Given the description of an element on the screen output the (x, y) to click on. 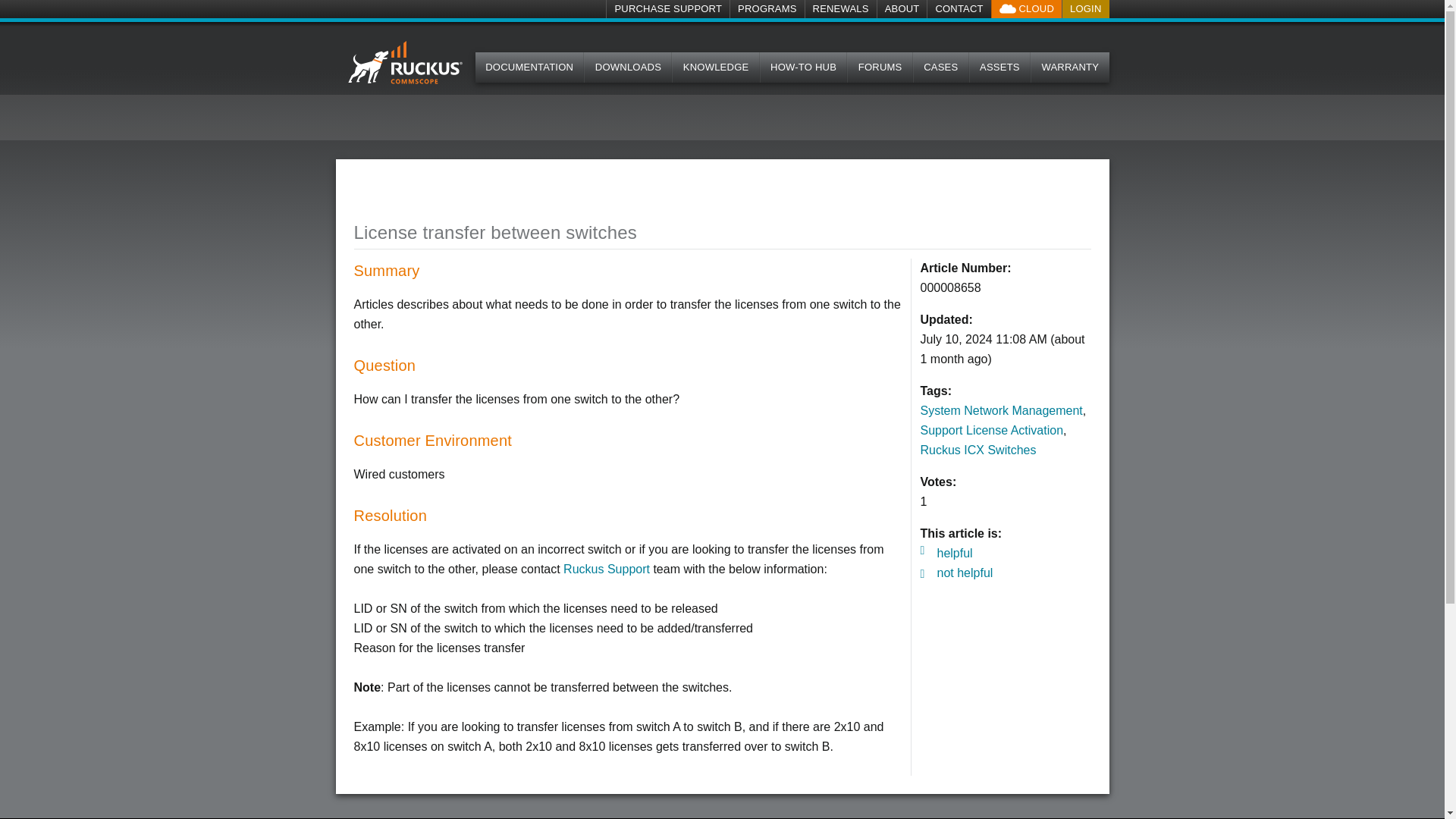
DOWNLOADS (627, 67)
WARRANTY (1069, 67)
DOCUMENTATION (530, 67)
LOGIN (1084, 9)
CLOUD (1026, 9)
FORUMS (879, 67)
CASES (940, 67)
KNOWLEDGE (714, 67)
ABOUT (901, 9)
CONTACT (958, 9)
